Given the description of an element on the screen output the (x, y) to click on. 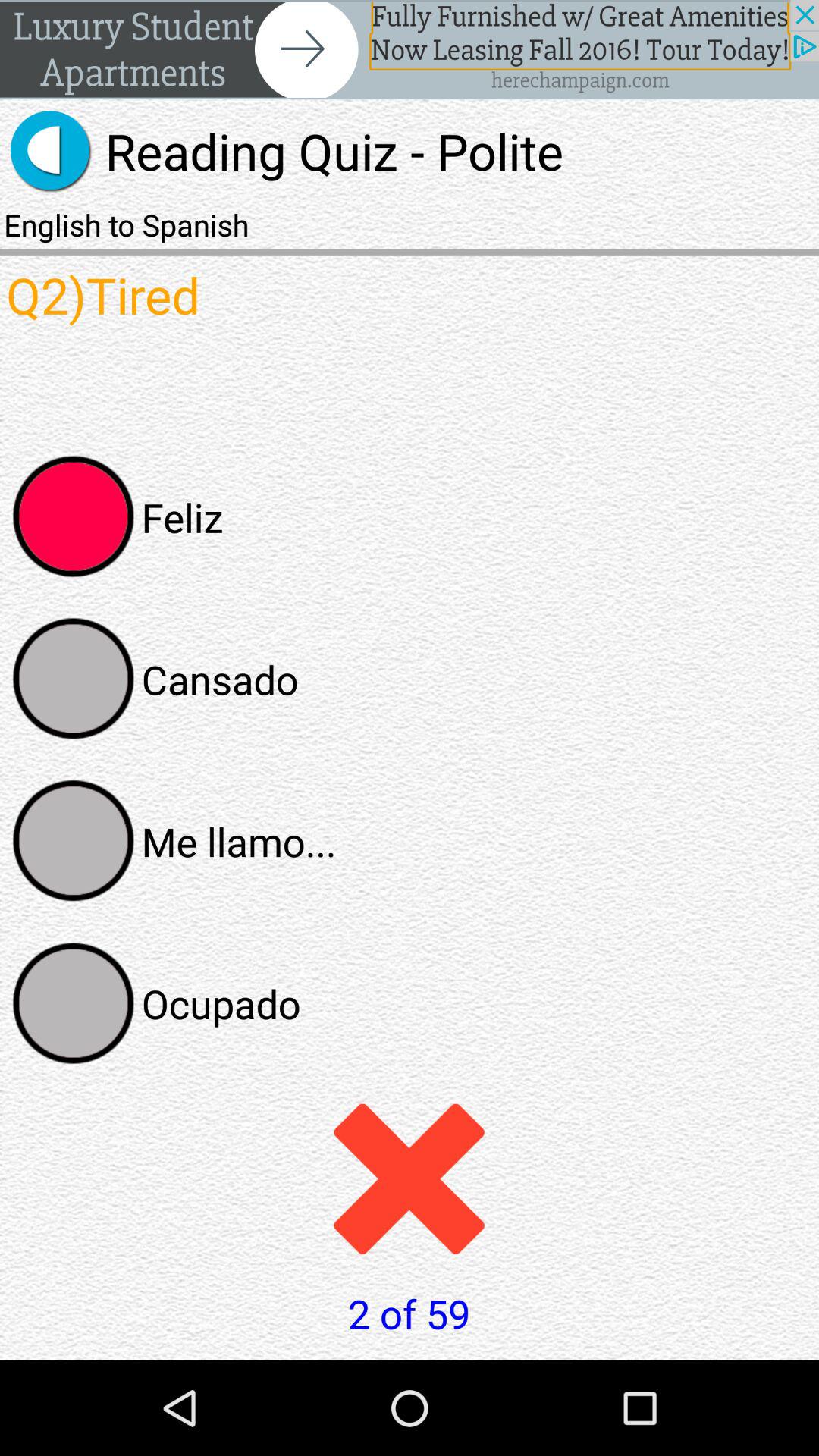
select option (73, 840)
